Given the description of an element on the screen output the (x, y) to click on. 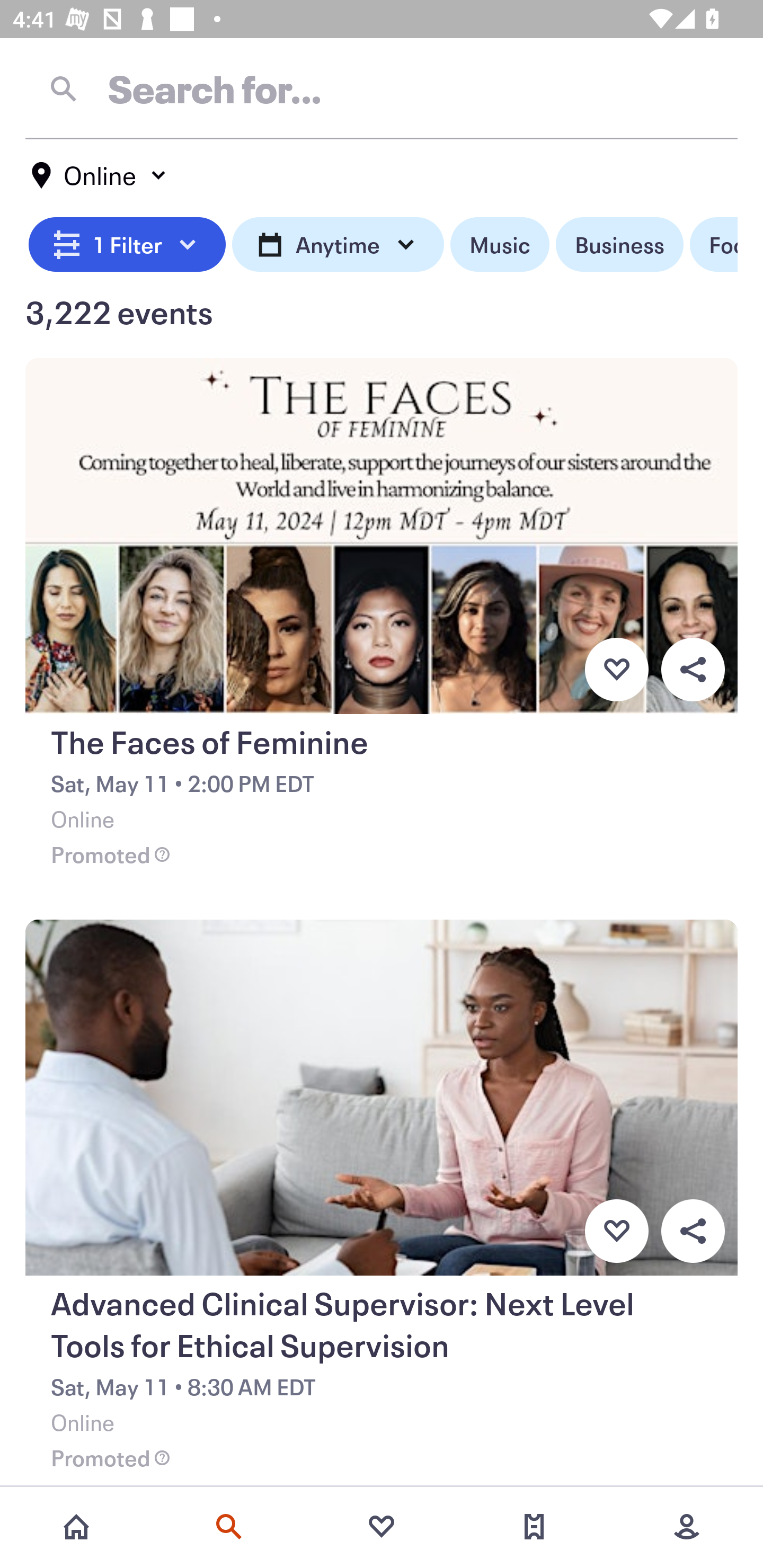
Search for… (381, 88)
Online (99, 175)
1 Filter (126, 244)
Anytime (337, 244)
Music (499, 244)
Business (619, 244)
Favorite button (616, 669)
Overflow menu button (692, 669)
Favorite button (616, 1230)
Overflow menu button (692, 1230)
Home (76, 1526)
Search events (228, 1526)
Favorites (381, 1526)
Tickets (533, 1526)
More (686, 1526)
